Given the description of an element on the screen output the (x, y) to click on. 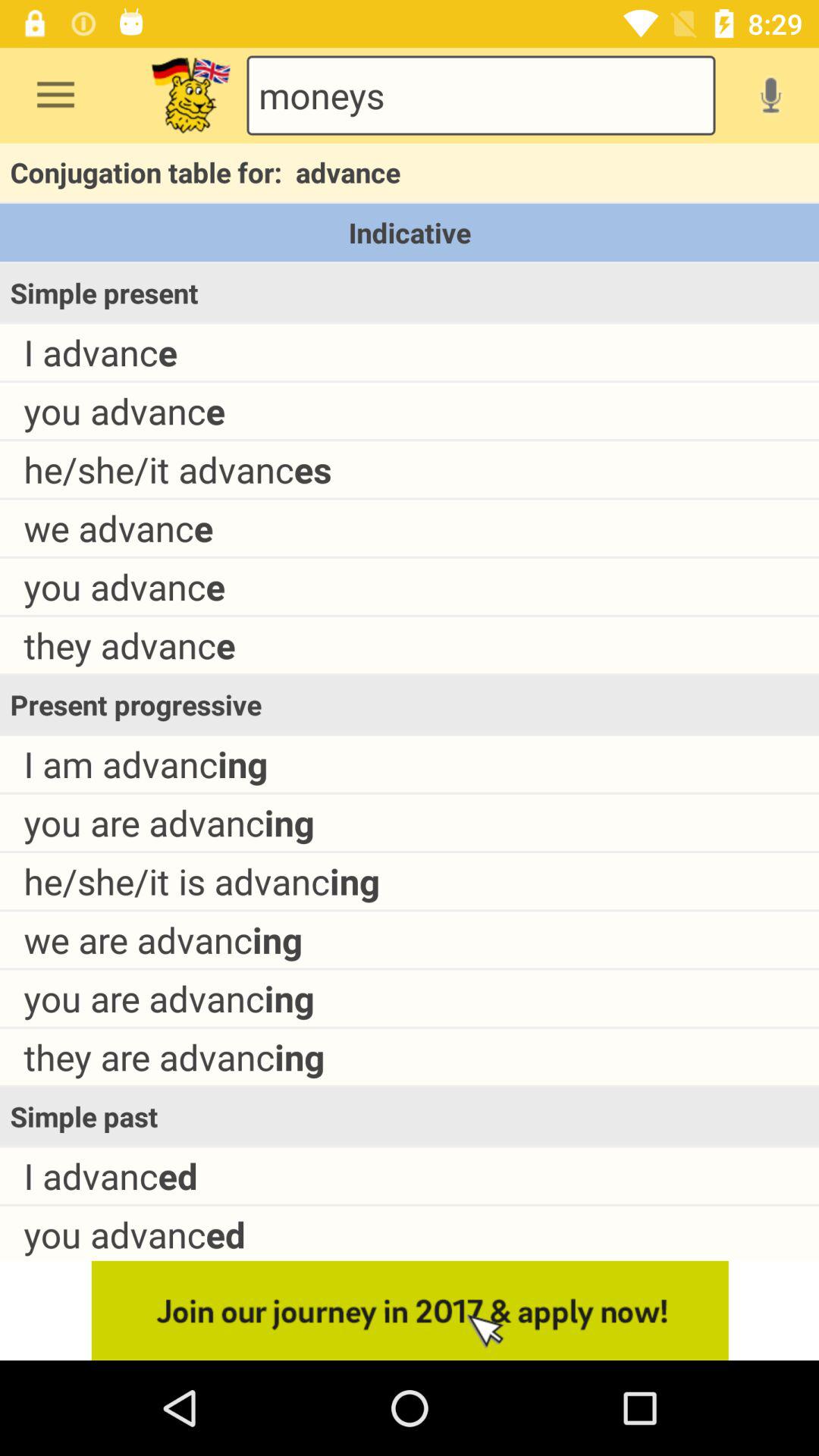
voice sound (770, 94)
